Given the description of an element on the screen output the (x, y) to click on. 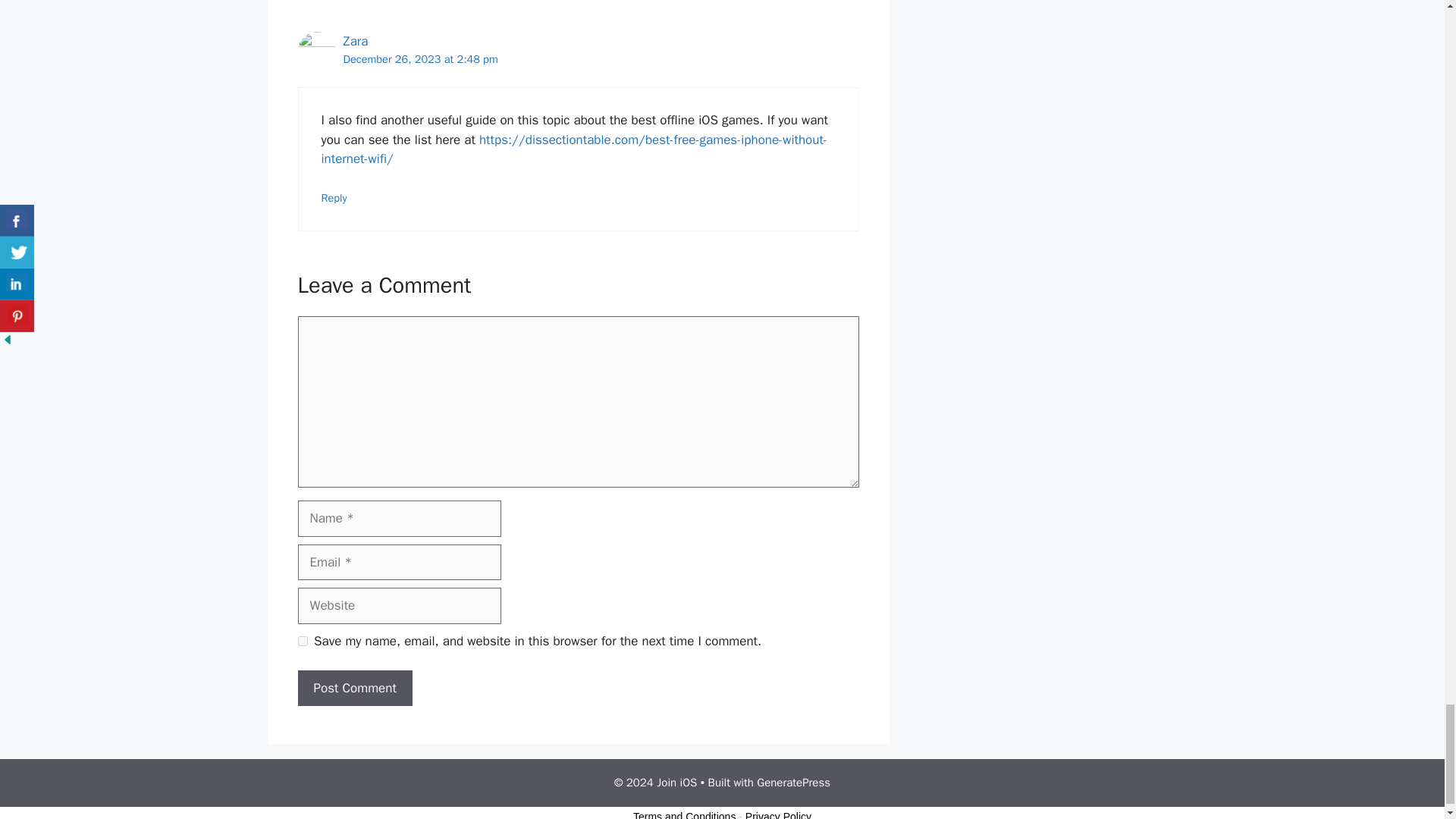
Post Comment (354, 688)
yes (302, 641)
